Given the description of an element on the screen output the (x, y) to click on. 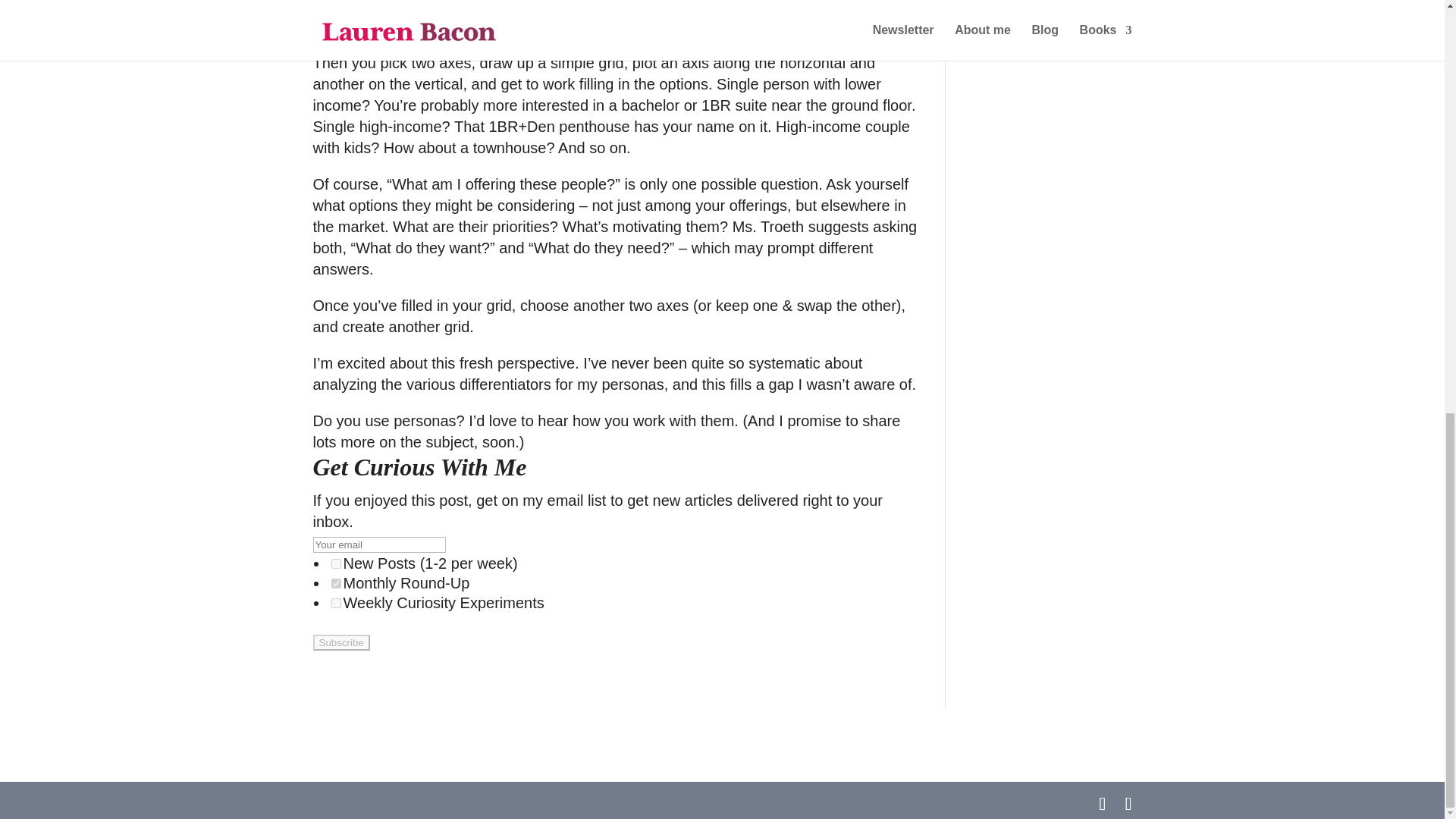
Subscribe (341, 642)
2 (335, 583)
4 (335, 603)
1 (335, 563)
Subscribe (341, 642)
